Given the description of an element on the screen output the (x, y) to click on. 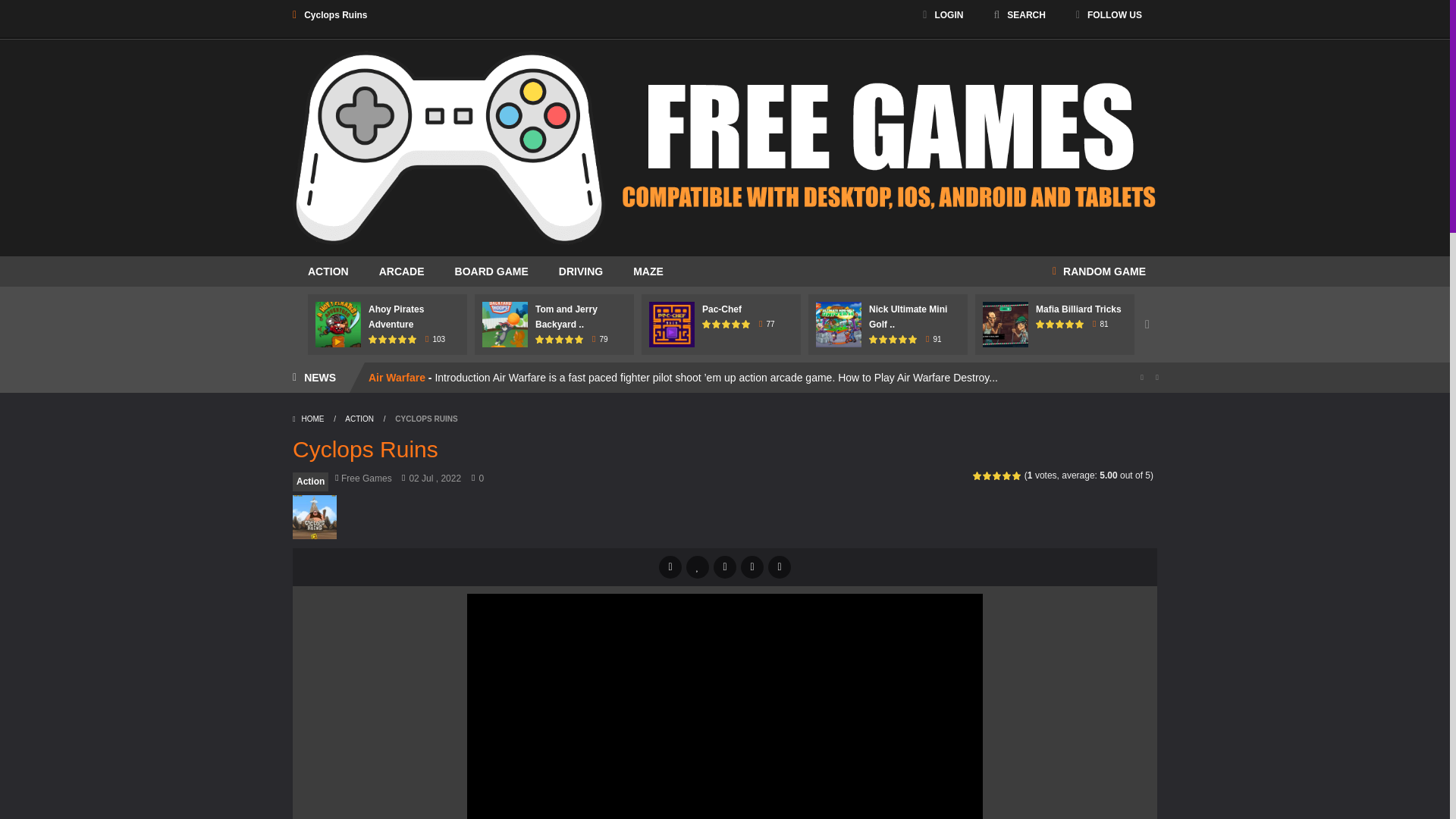
1 vote, average: 5.00 out of 5 (383, 338)
1 vote, average: 5.00 out of 5 (412, 338)
MAZE (647, 271)
Mafia Billiard Tricks (1078, 308)
LOGIN (942, 15)
1 vote, average: 5.00 out of 5 (392, 338)
1 vote, average: 5.00 out of 5 (539, 338)
1 vote, average: 5.00 out of 5 (402, 338)
BOARD GAME (491, 271)
Ahoy Pirates Adventure (395, 316)
Play a random game! (1099, 271)
ARCADE (401, 271)
1 vote, average: 5.00 out of 5 (373, 338)
ACTION (328, 271)
RANDOM GAME (1099, 271)
